Given the description of an element on the screen output the (x, y) to click on. 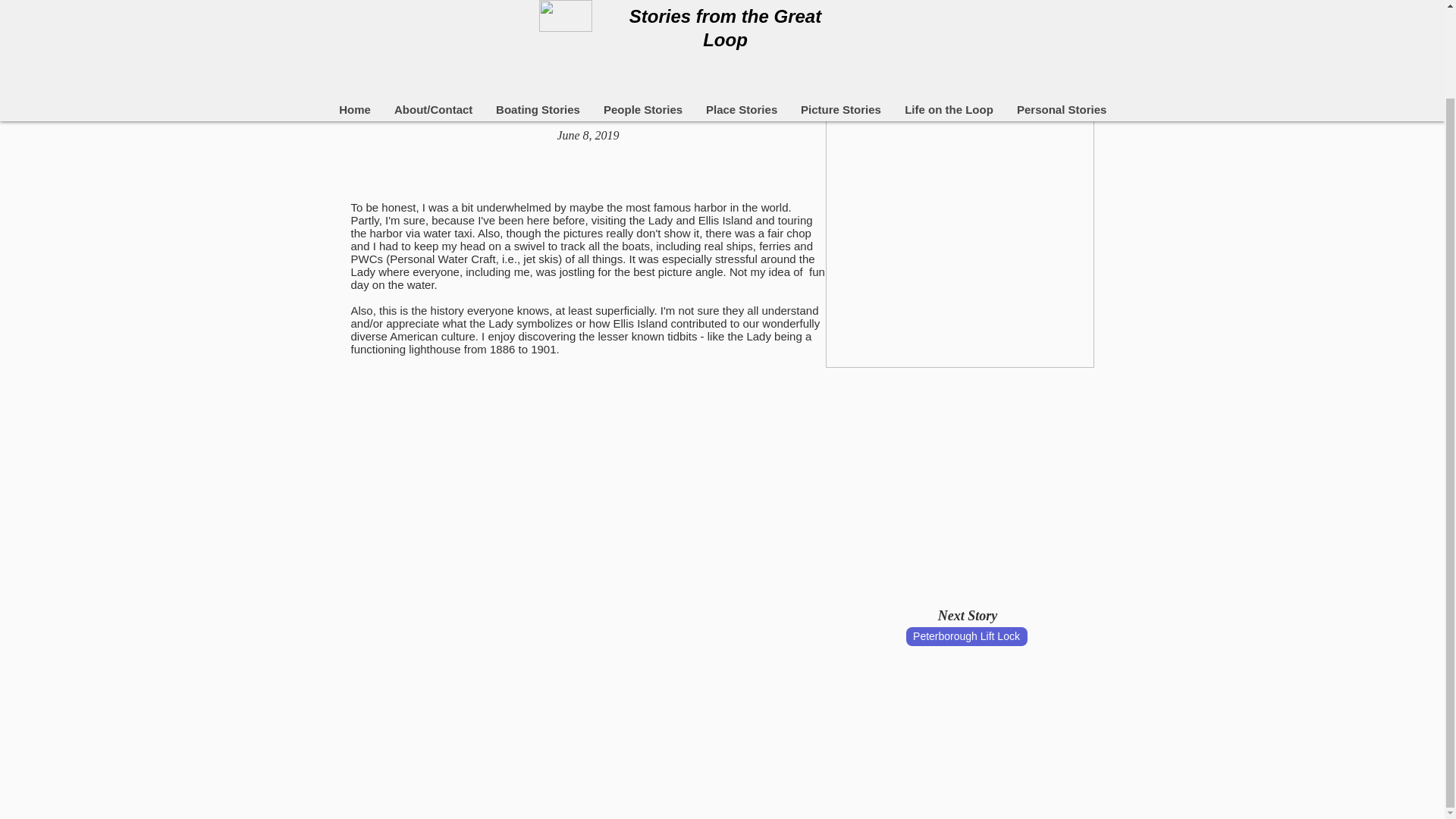
Personal Stories (1061, 8)
Home (353, 8)
Place Stories (741, 8)
Peterborough Lift Lock (965, 636)
Boating Stories (537, 8)
People Stories (642, 8)
Picture Stories (840, 8)
Life on the Loop (948, 8)
